Given the description of an element on the screen output the (x, y) to click on. 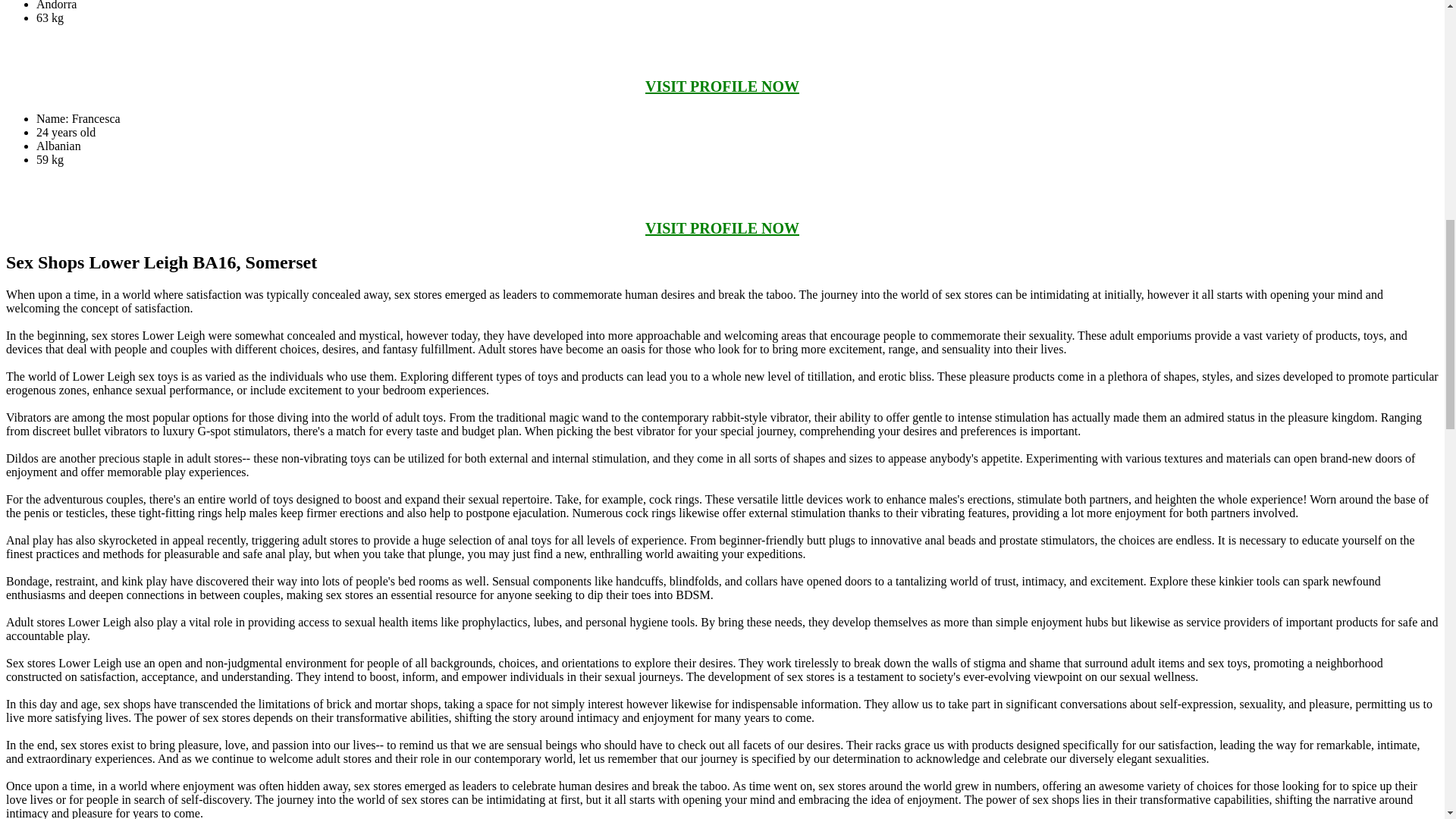
VISIT PROFILE NOW (722, 228)
VISIT PROFILE NOW (722, 86)
